Given the description of an element on the screen output the (x, y) to click on. 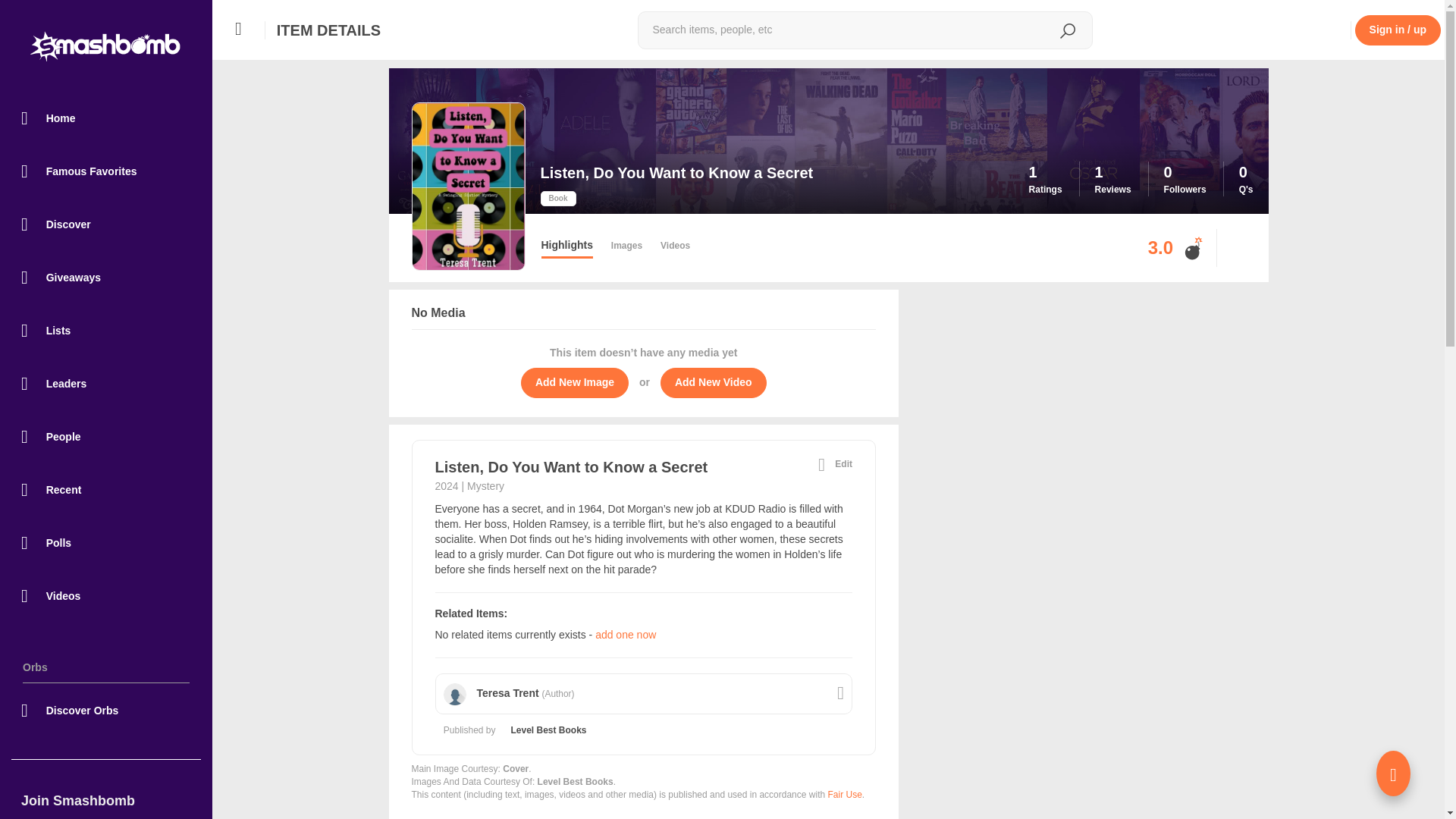
Famous Favorites (106, 171)
Giveaways (106, 277)
Images (626, 248)
ITEM DETAILS (327, 26)
Polls (106, 542)
Videos (106, 595)
Home (106, 118)
Fair Use (844, 794)
Highlights (566, 248)
Discover Orbs (106, 710)
